Given the description of an element on the screen output the (x, y) to click on. 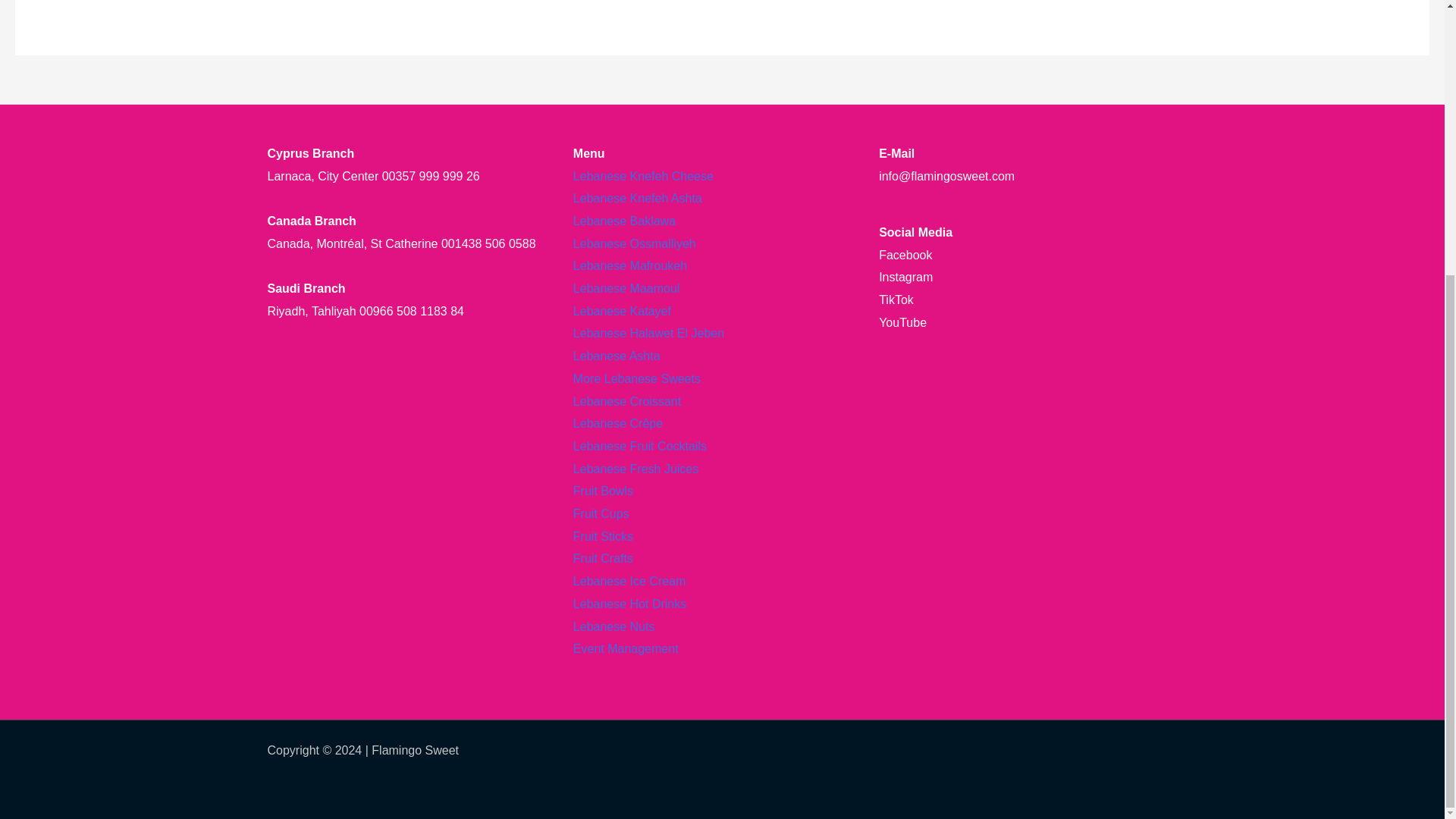
Lebanese Fresh Juices (635, 468)
Fruit Cups (600, 513)
Fruit Crafts (603, 558)
Lebanese Mafroukeh (630, 265)
Lebanese Croissant (627, 400)
More Lebanese Sweets (636, 378)
Lebanese Maamoul (626, 287)
Lebanese Knefeh Cheese (643, 175)
Lebanese Katayef (622, 310)
Lebanese Halawet El Jeben (648, 332)
Lebanese Knefeh Ashta (637, 197)
Lebanese Fruit Cocktails (639, 445)
Fruit Bowls (603, 490)
Lebanese Baklawa (624, 220)
Lebanese Ashta (617, 355)
